Given the description of an element on the screen output the (x, y) to click on. 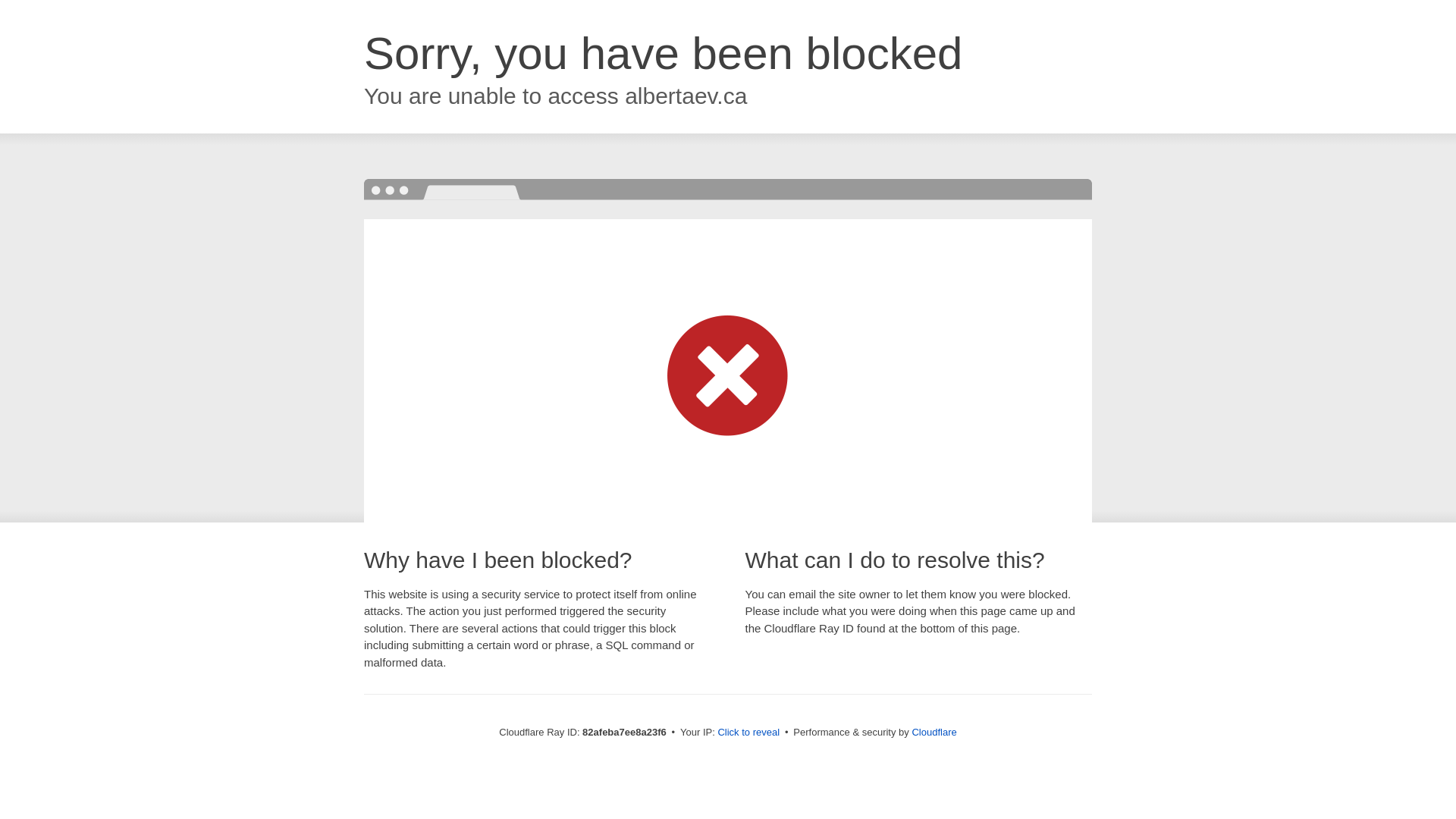
Click to reveal Element type: text (748, 732)
Cloudflare Element type: text (933, 731)
